Given the description of an element on the screen output the (x, y) to click on. 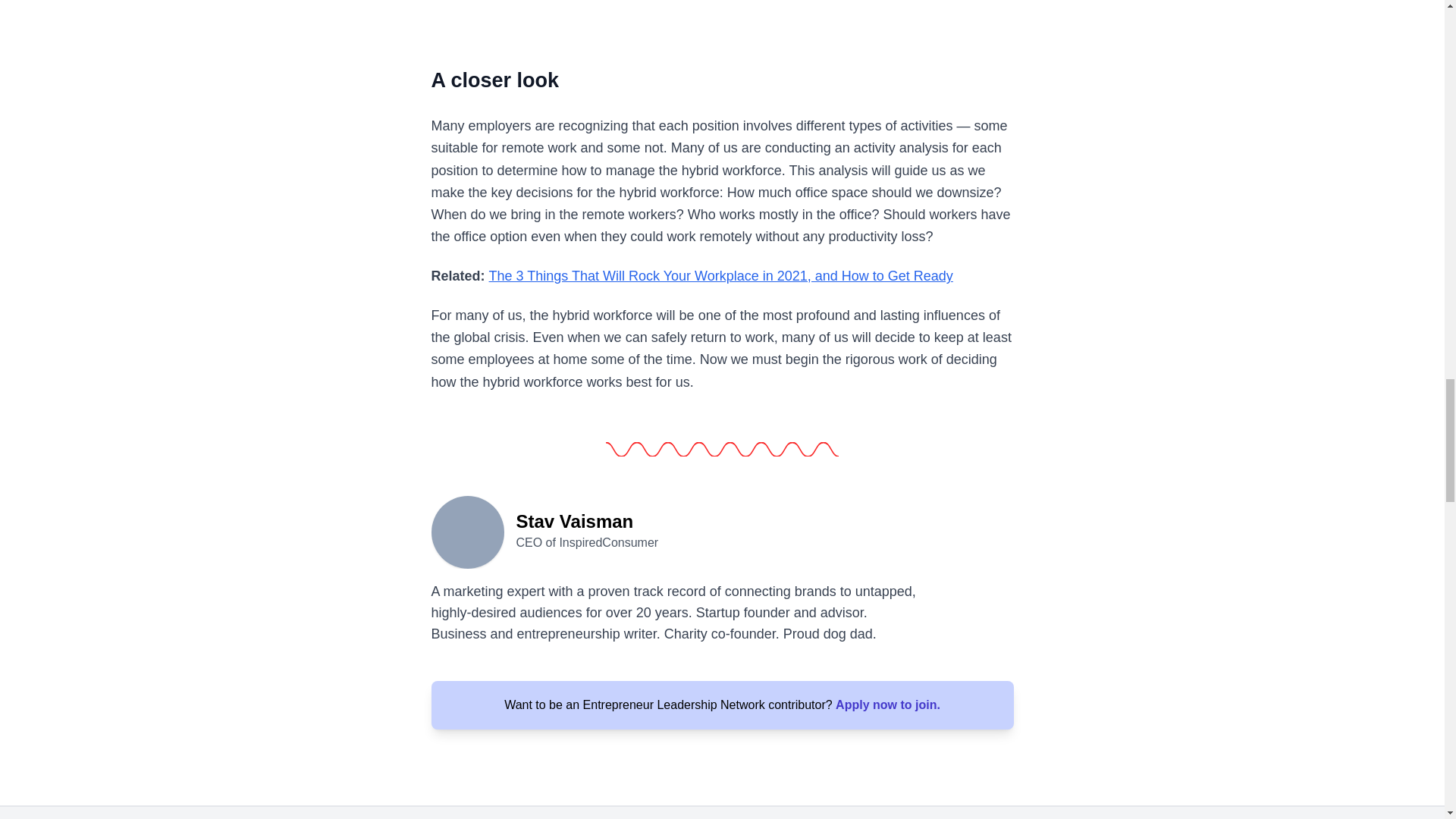
Stav Vaisman (466, 530)
